Given the description of an element on the screen output the (x, y) to click on. 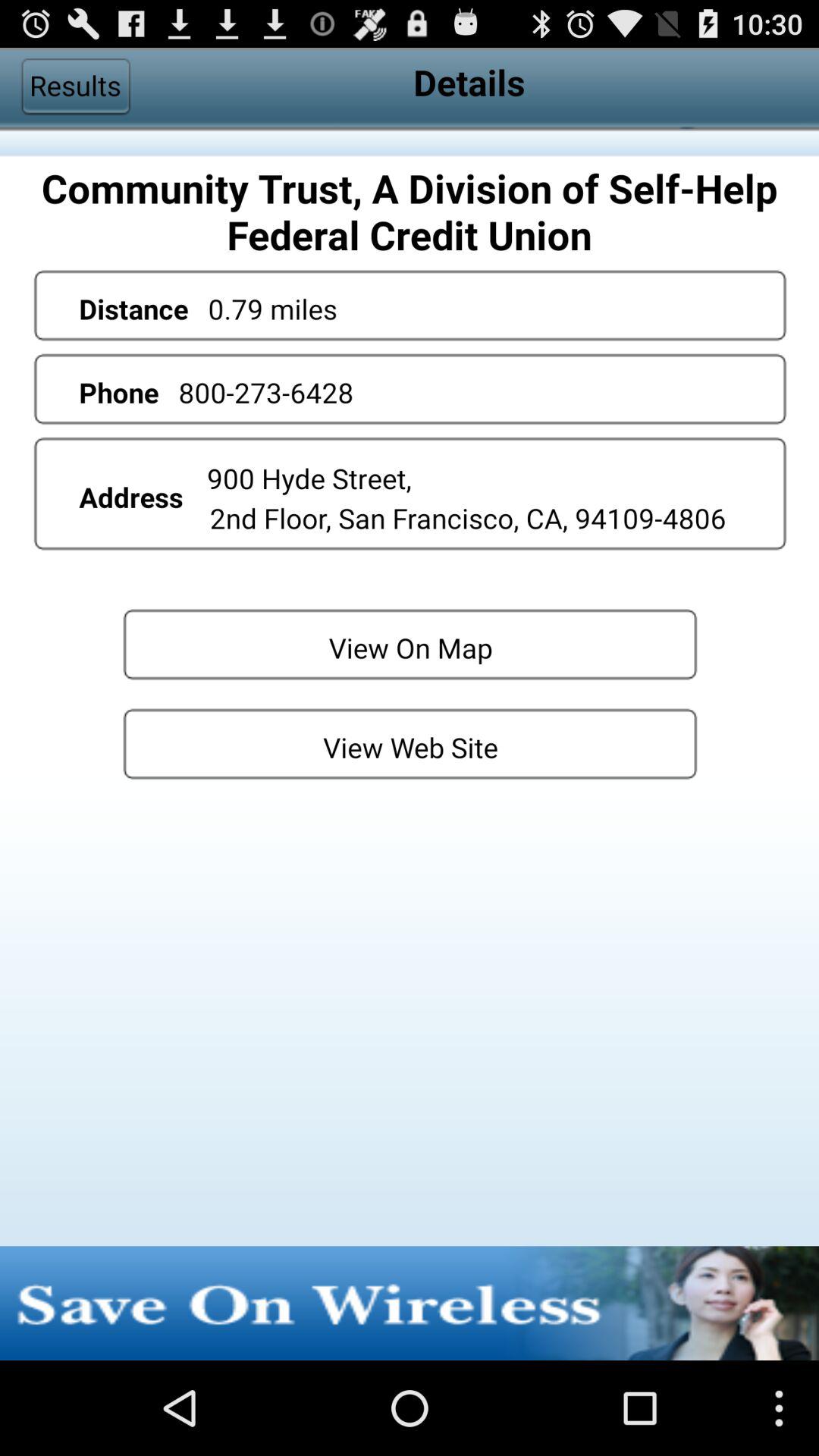
click the app below the distance item (265, 392)
